Given the description of an element on the screen output the (x, y) to click on. 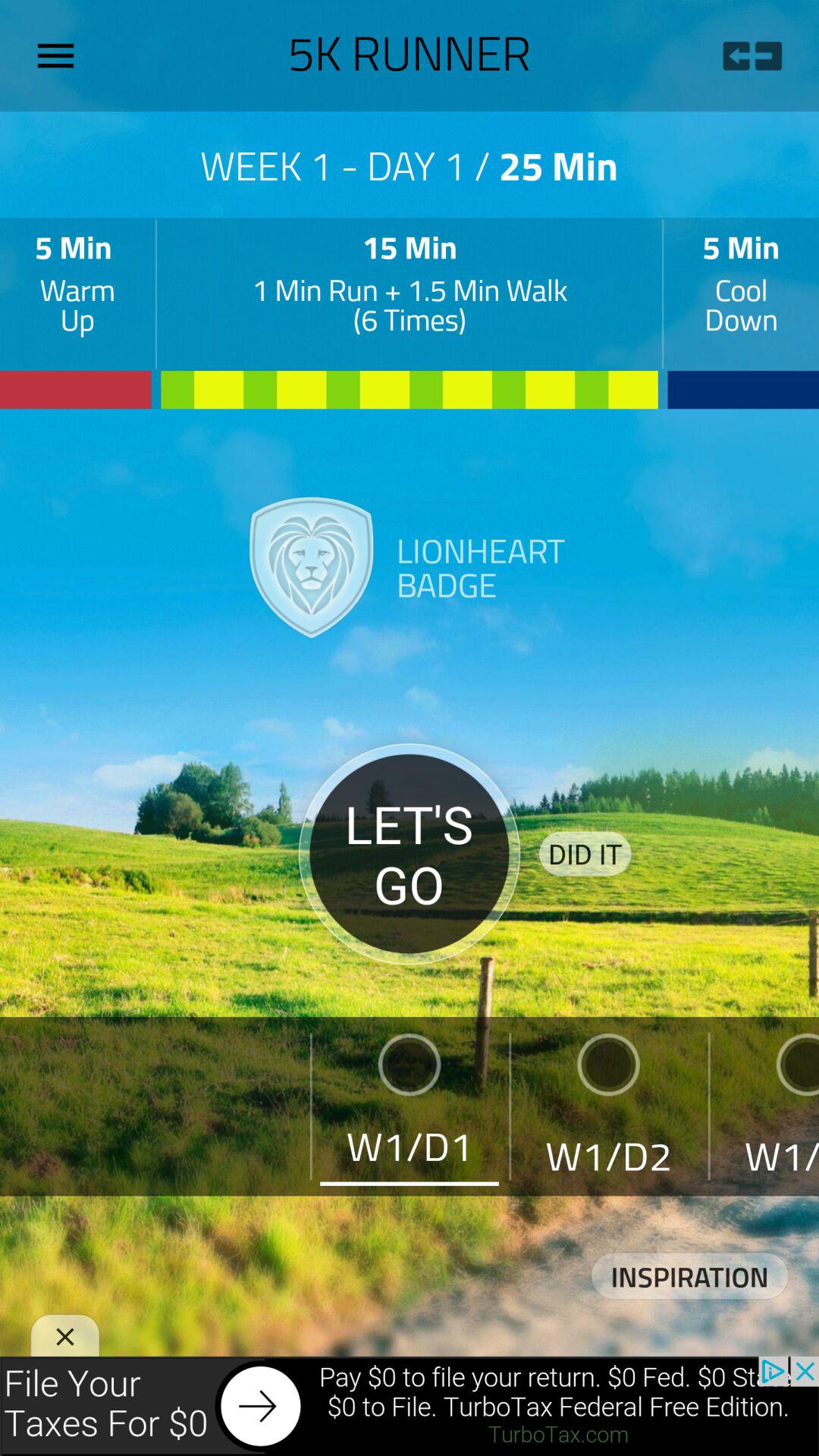
menu (61, 55)
